Given the description of an element on the screen output the (x, y) to click on. 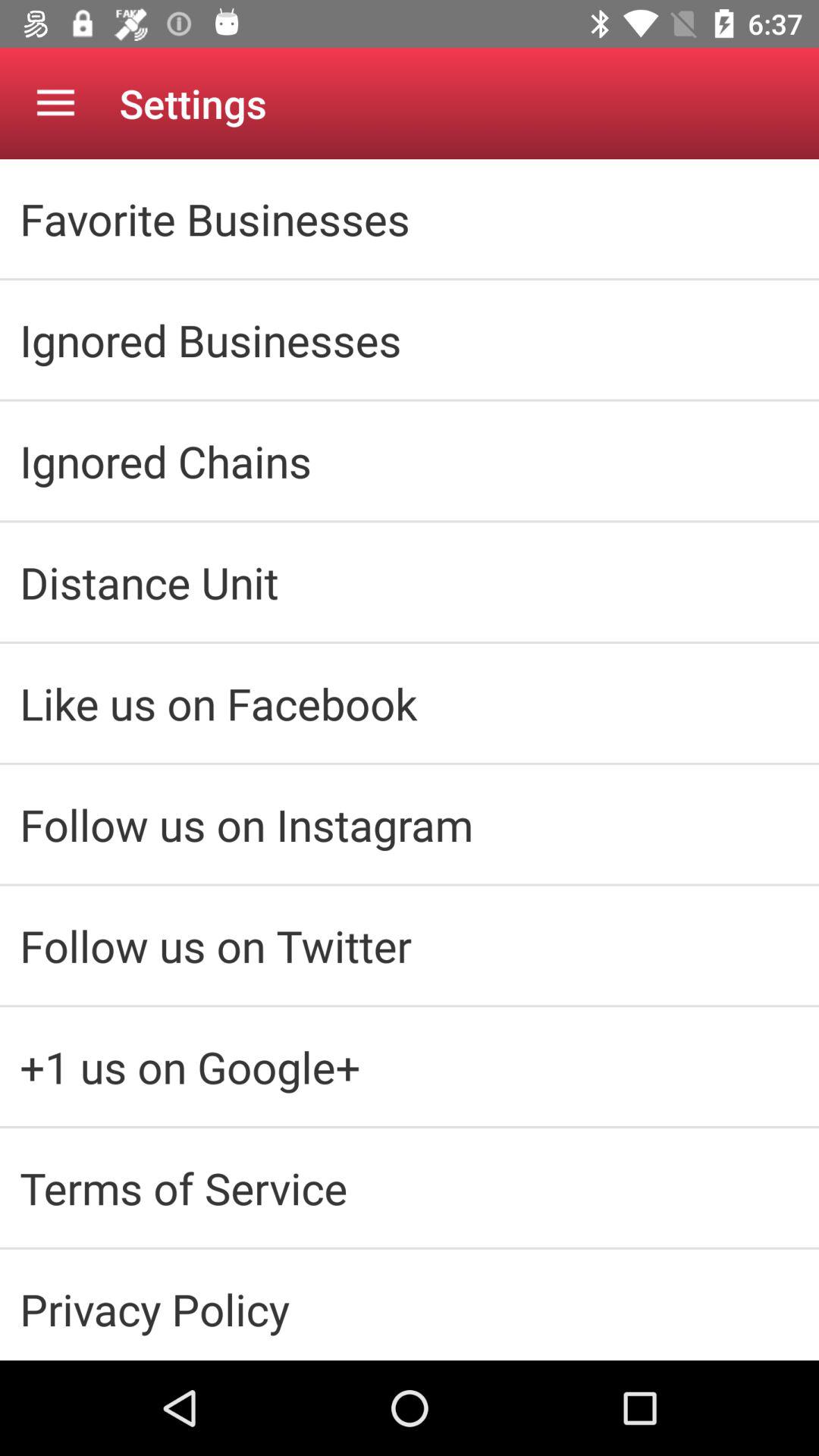
flip until terms of service icon (409, 1187)
